Given the description of an element on the screen output the (x, y) to click on. 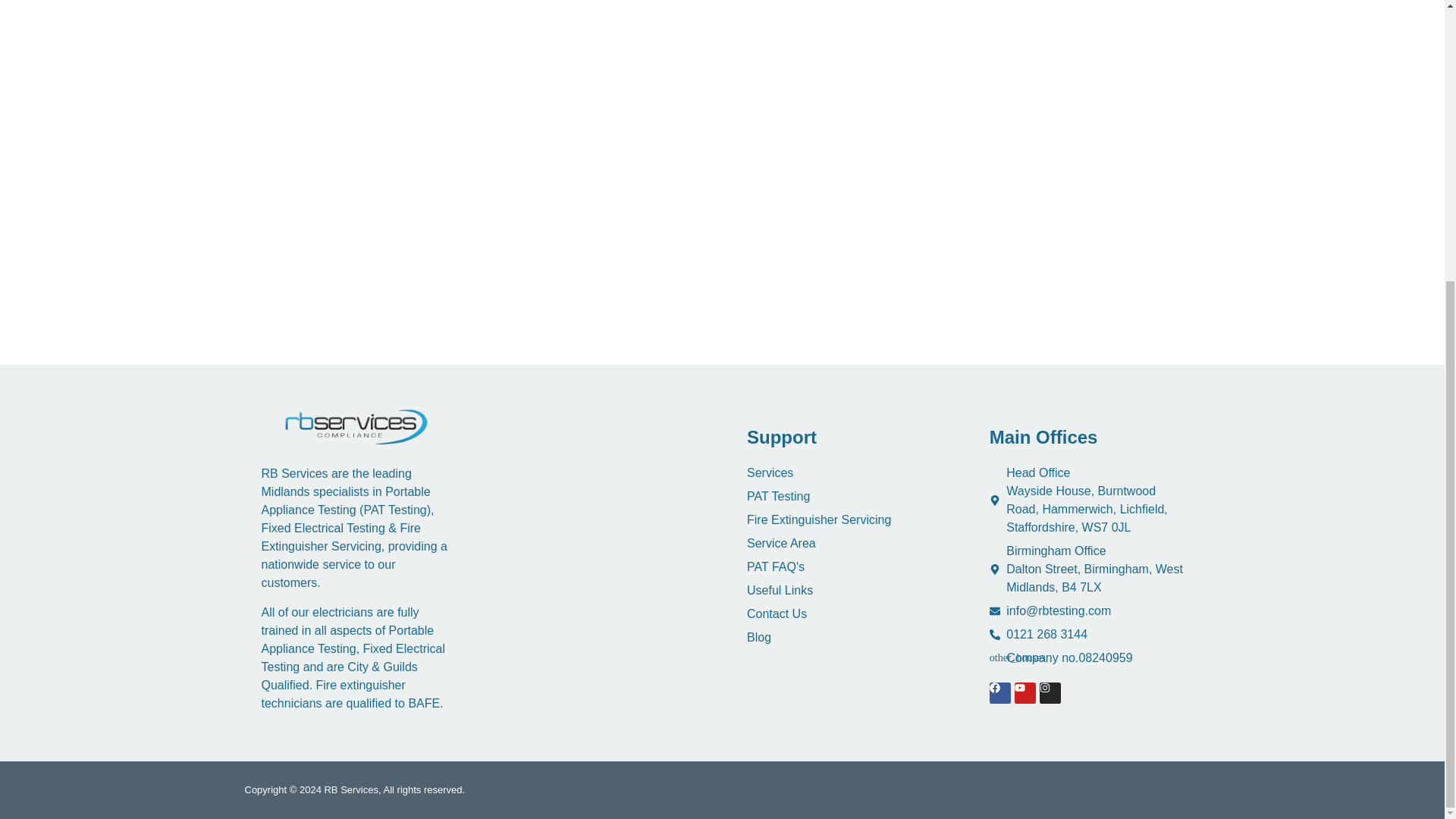
PAT Testing (843, 496)
Services (843, 473)
0121 268 3144 (1086, 634)
Useful Links (843, 590)
Blog (843, 637)
PAT FAQ's (843, 566)
Service Area (843, 543)
Contact Us (843, 614)
